Given the description of an element on the screen output the (x, y) to click on. 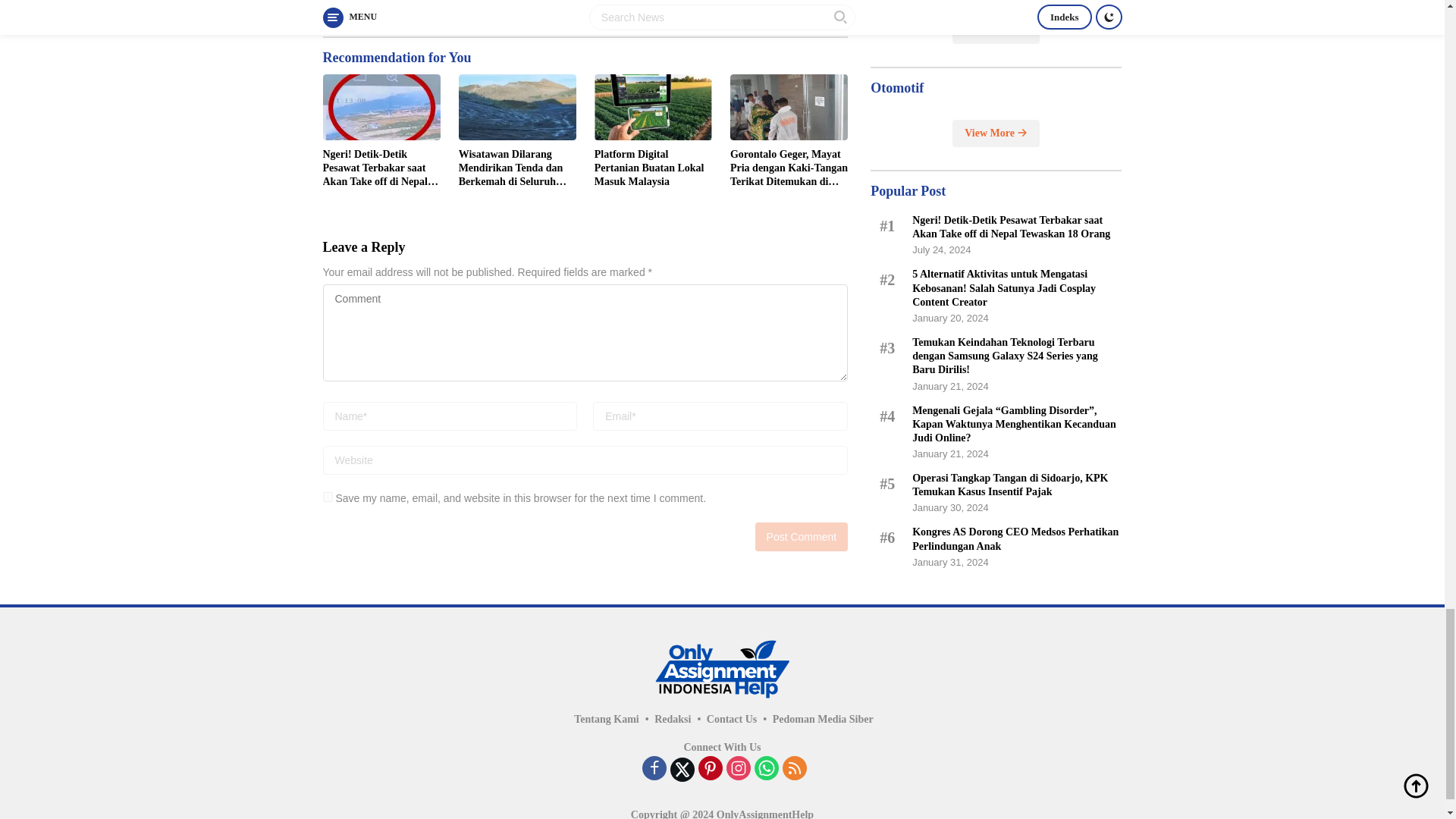
Post Comment (801, 536)
yes (328, 497)
